Given the description of an element on the screen output the (x, y) to click on. 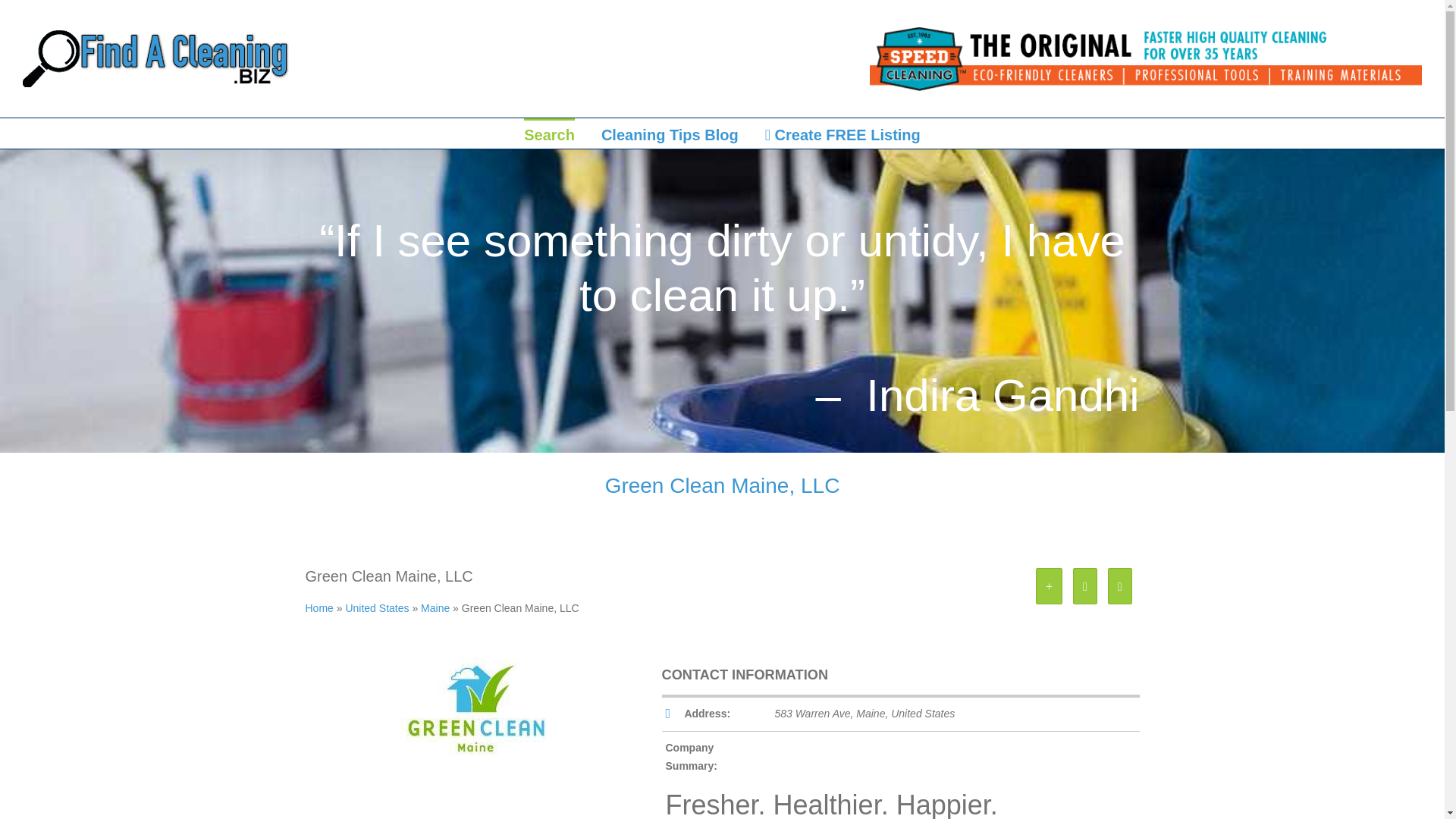
Maine (434, 607)
United States (377, 607)
Search (549, 132)
Create FREE Listing (842, 132)
View all listings in Maine (434, 607)
View all listings in United States (377, 607)
Home (318, 607)
Cleaning Tips Blog (669, 132)
